Given the description of an element on the screen output the (x, y) to click on. 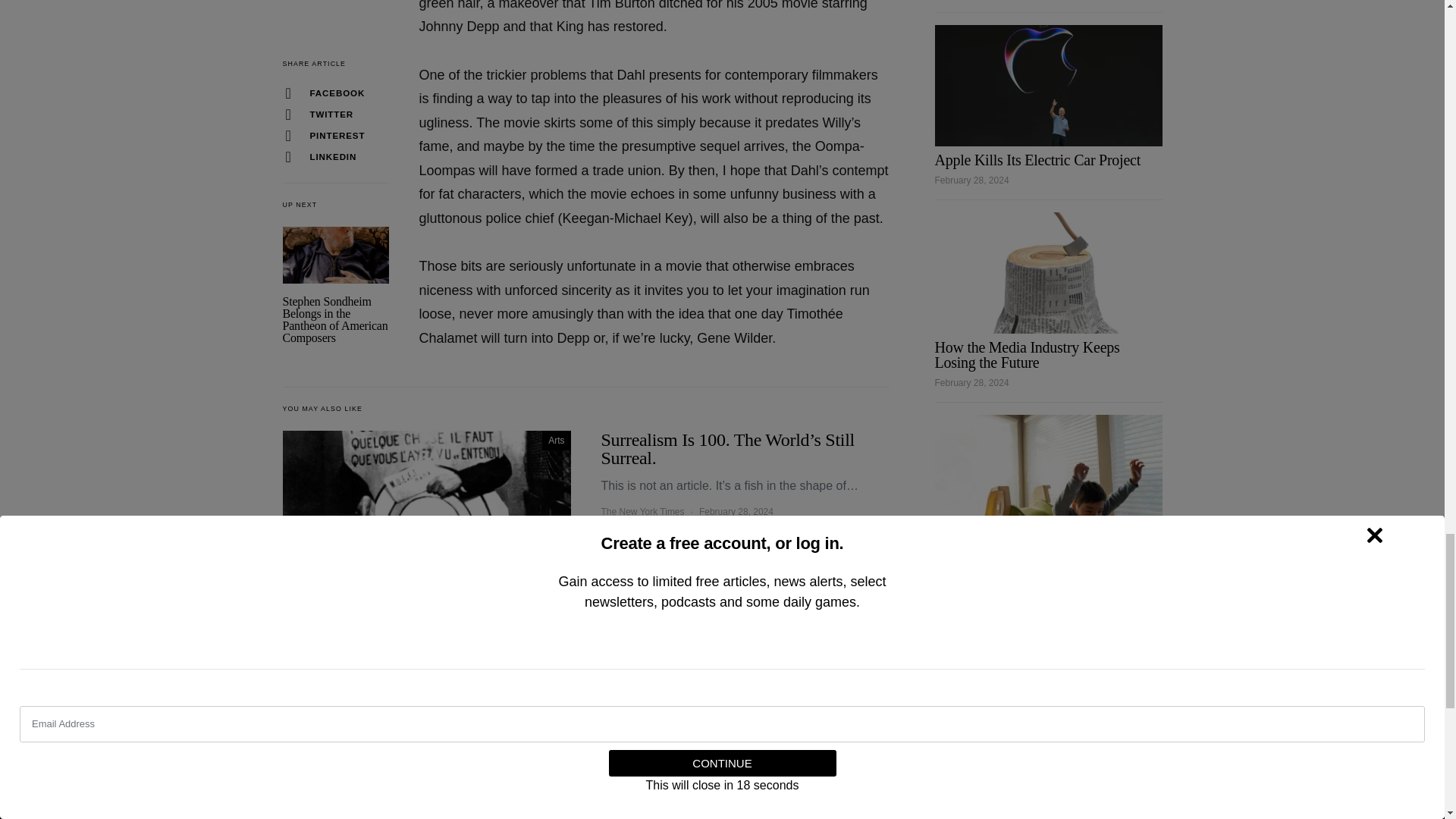
View all posts by The New York Times (641, 717)
View all posts by The New York Times (641, 511)
